Given the description of an element on the screen output the (x, y) to click on. 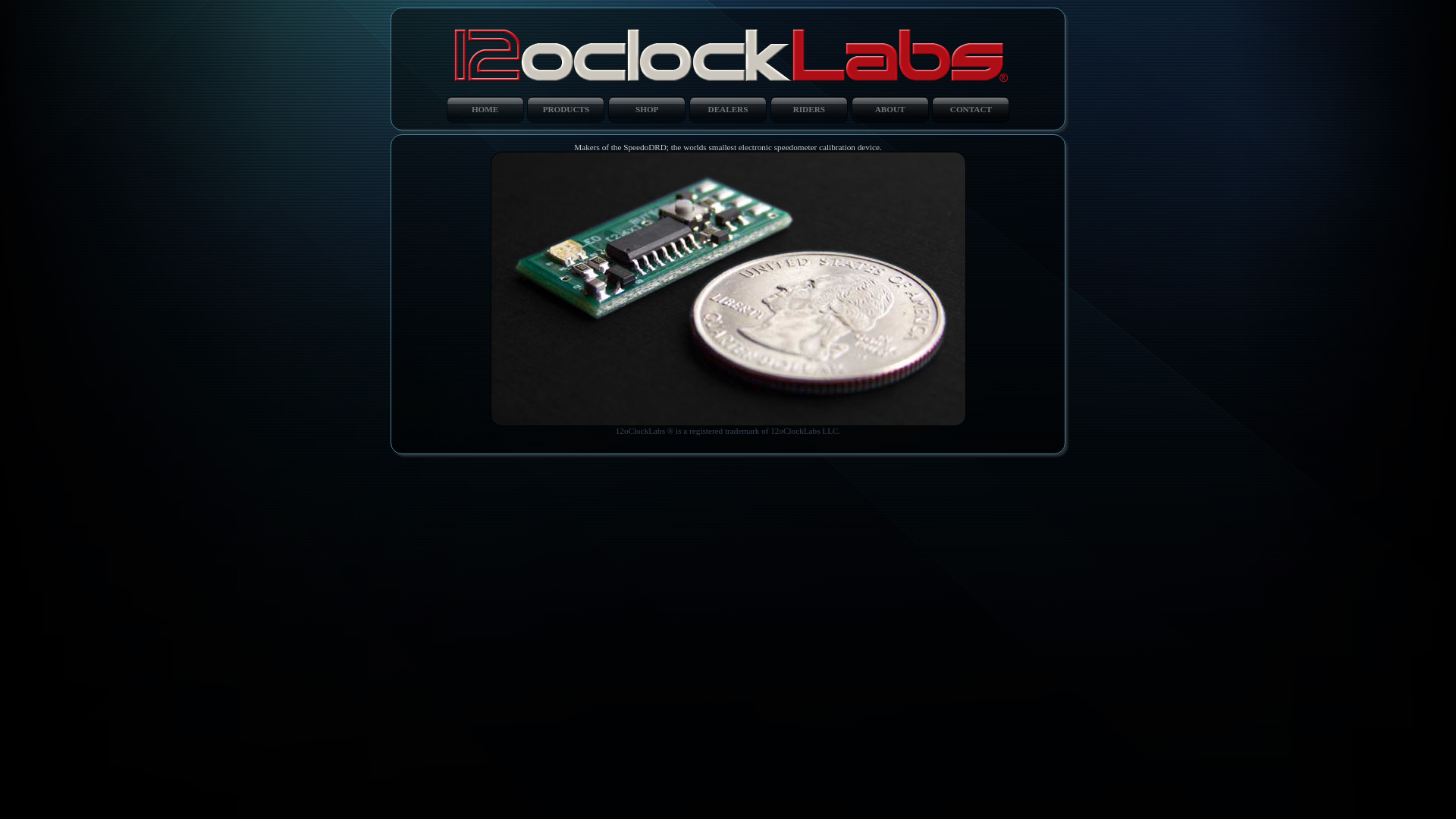
RIDERS Element type: text (808, 108)
SHOP Element type: text (646, 108)
CONTACT Element type: text (970, 108)
ABOUT Element type: text (889, 108)
PRODUCTS Element type: text (565, 108)
HOME Element type: text (484, 108)
12oClockLabs LLC Element type: hover (727, 49)
DEALERS Element type: text (727, 108)
